Given the description of an element on the screen output the (x, y) to click on. 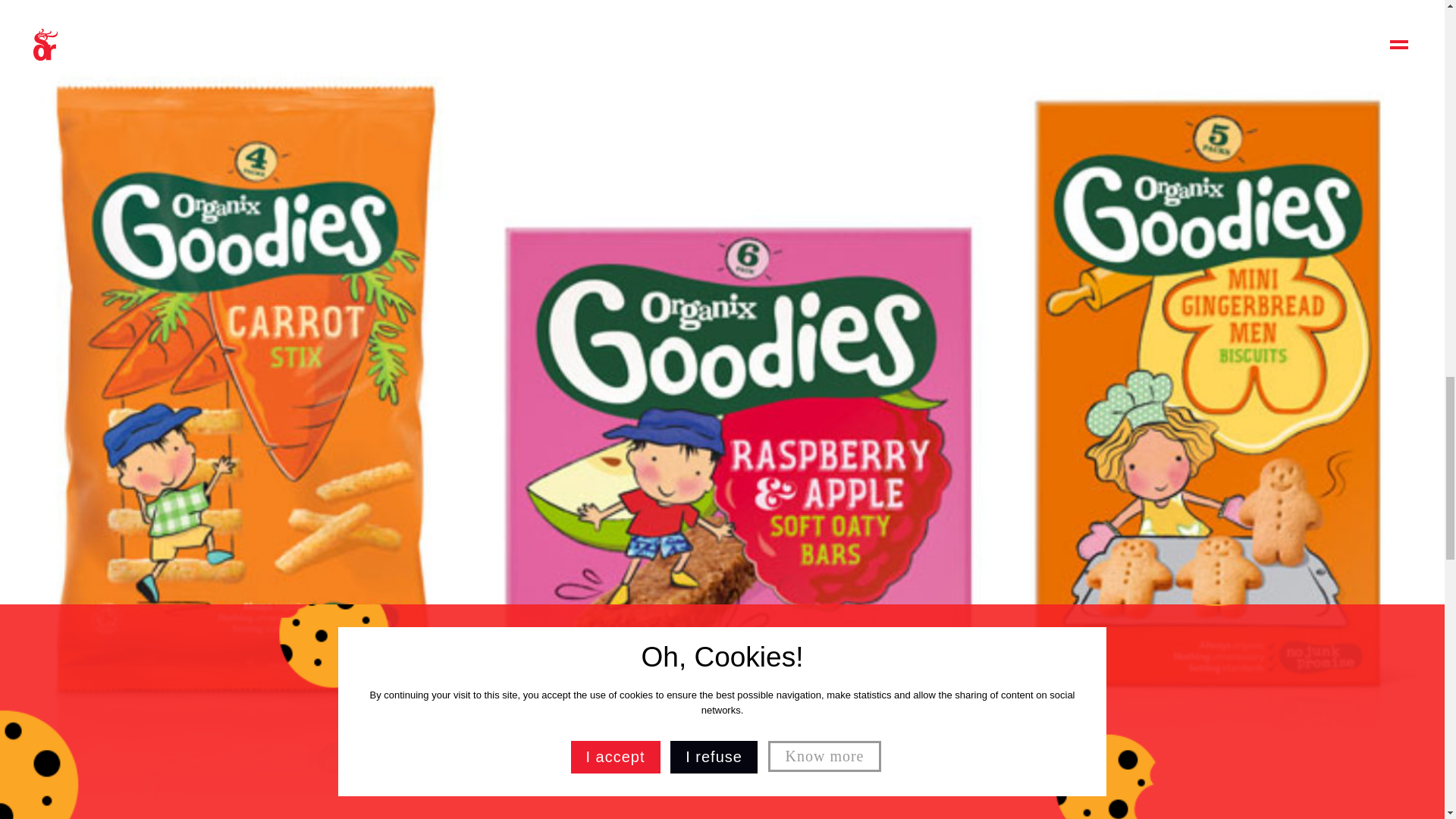
UEFA EURO 2024 PLAY BOOK (1146, 458)
